Given the description of an element on the screen output the (x, y) to click on. 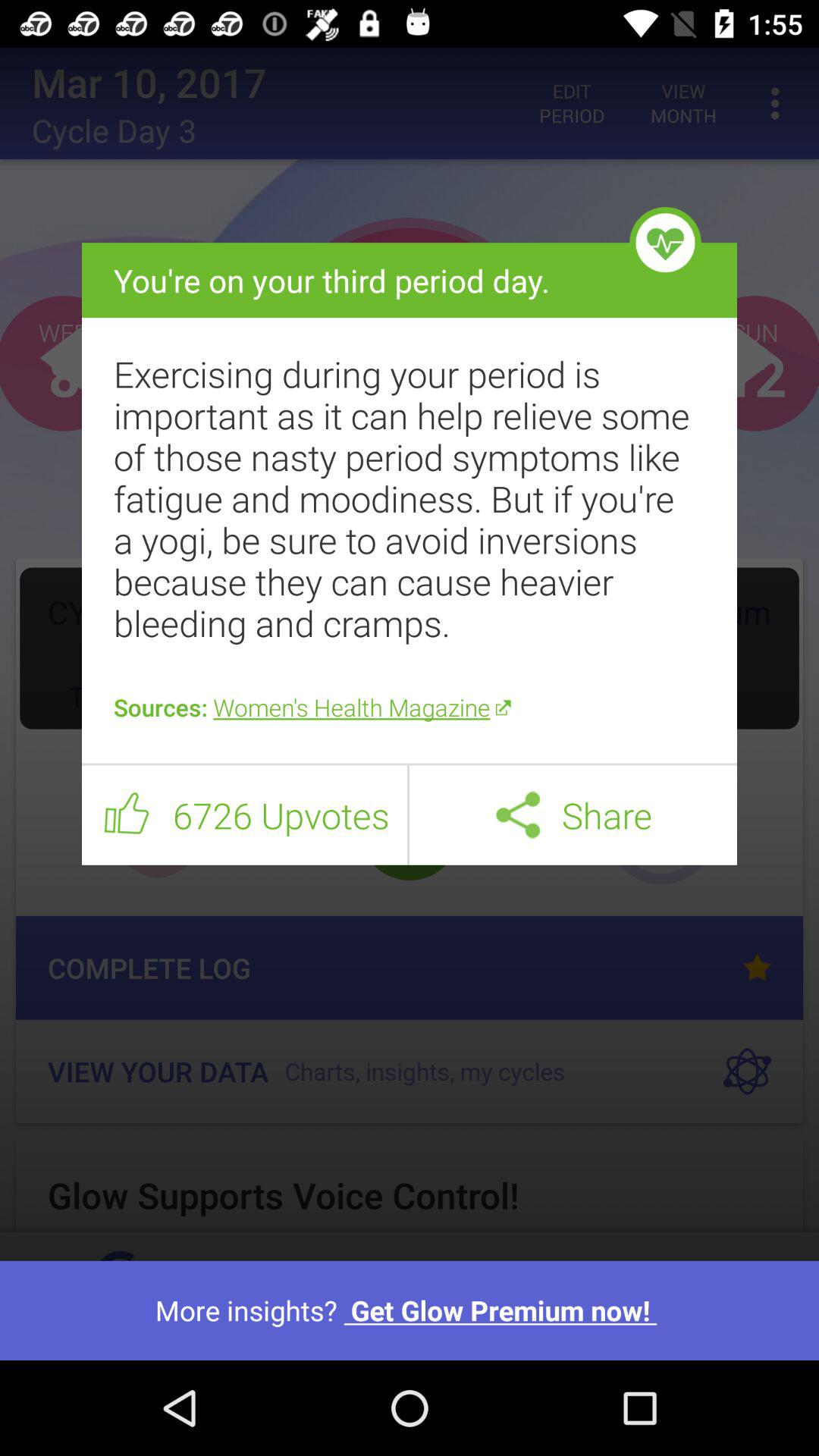
swipe to the sources women s icon (409, 707)
